Given the description of an element on the screen output the (x, y) to click on. 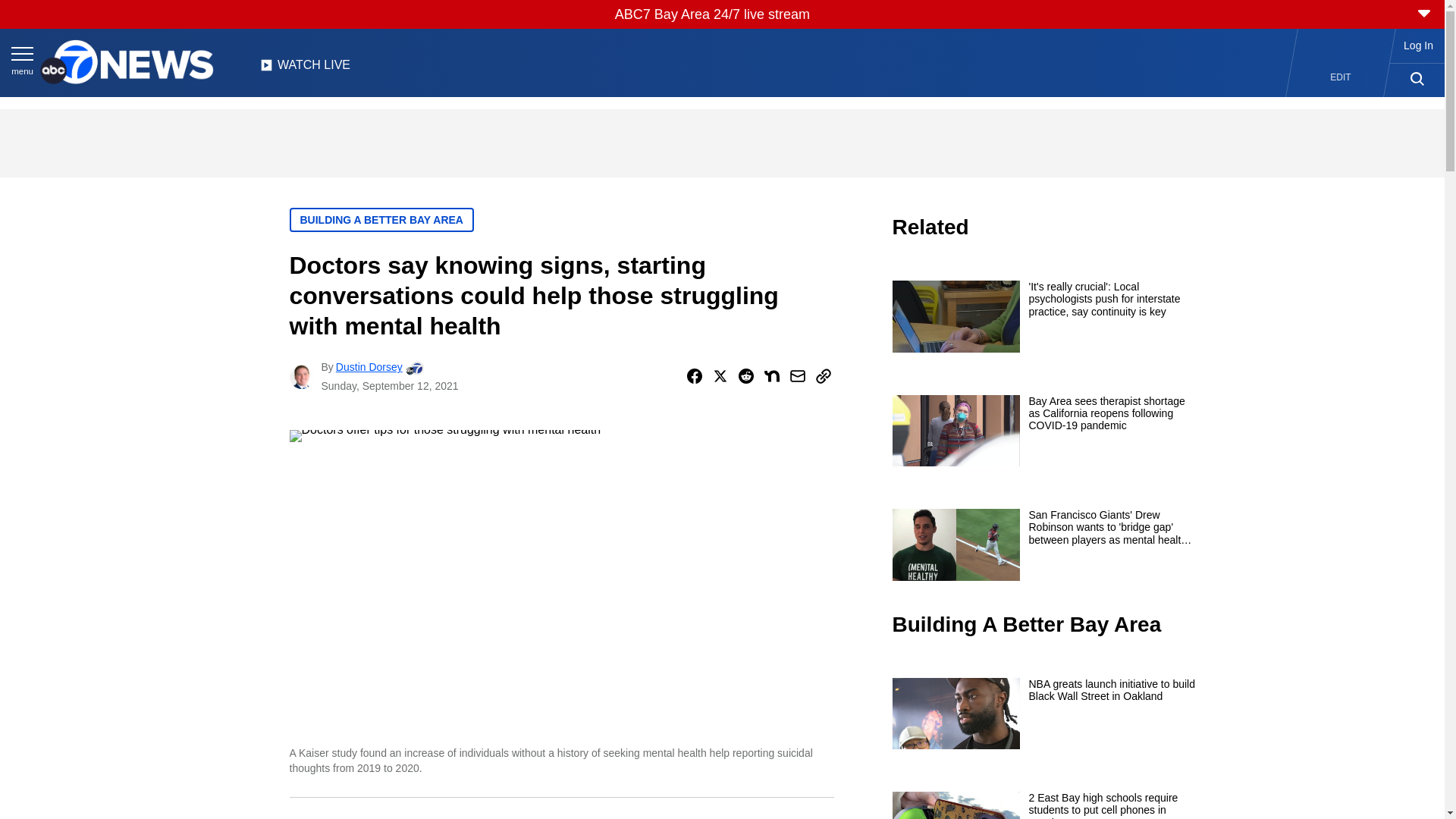
EDIT (1340, 77)
WATCH LIVE (305, 69)
